Given the description of an element on the screen output the (x, y) to click on. 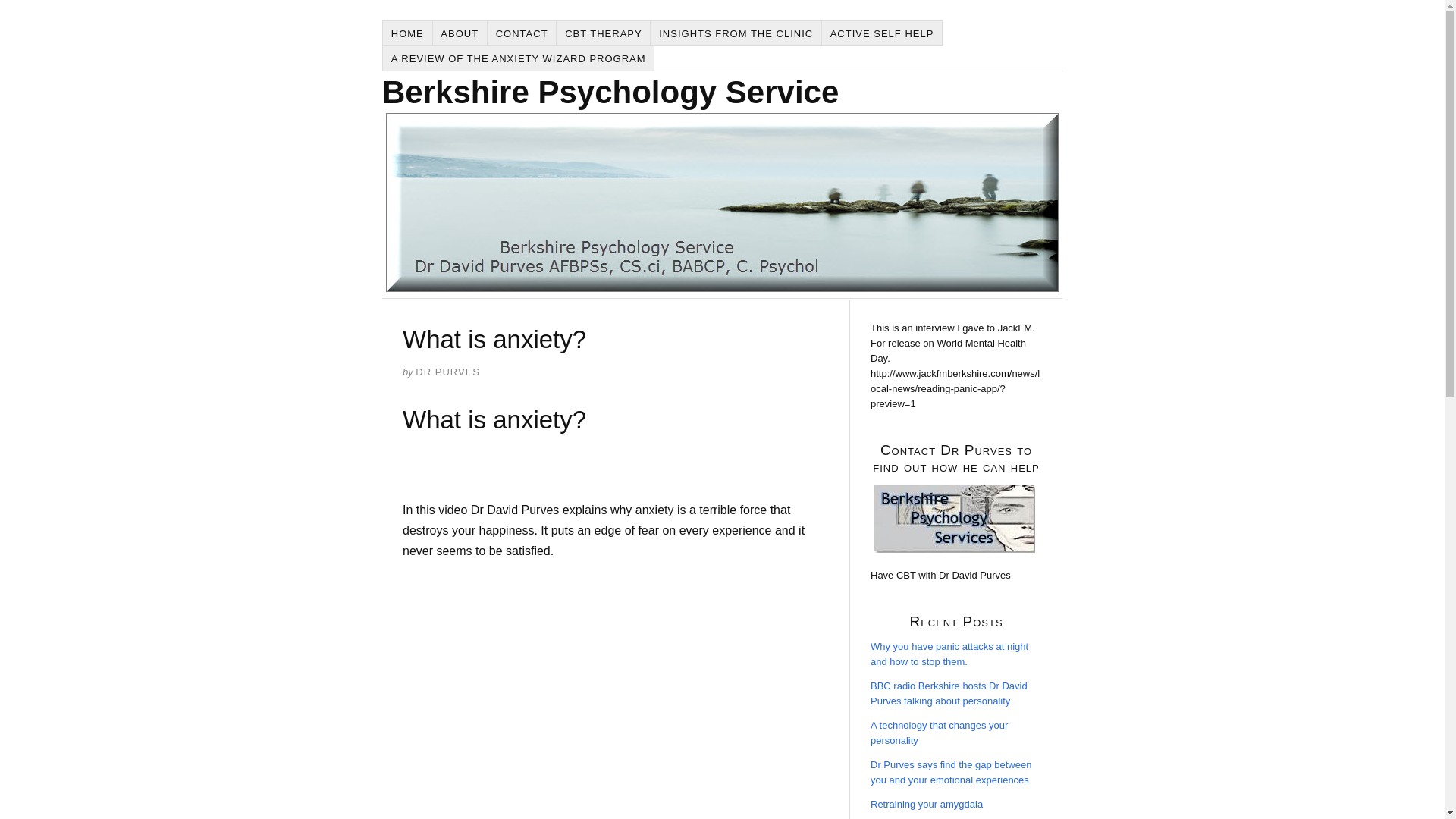
CBT With Dr Purves (955, 518)
HOME (407, 32)
ABOUT (459, 32)
CBT THERAPY (603, 32)
ACTIVE SELF HELP (882, 32)
INSIGHTS FROM THE CLINIC (735, 32)
A REVIEW OF THE ANXIETY WIZARD PROGRAM (517, 58)
CONTACT (521, 32)
